Given the description of an element on the screen output the (x, y) to click on. 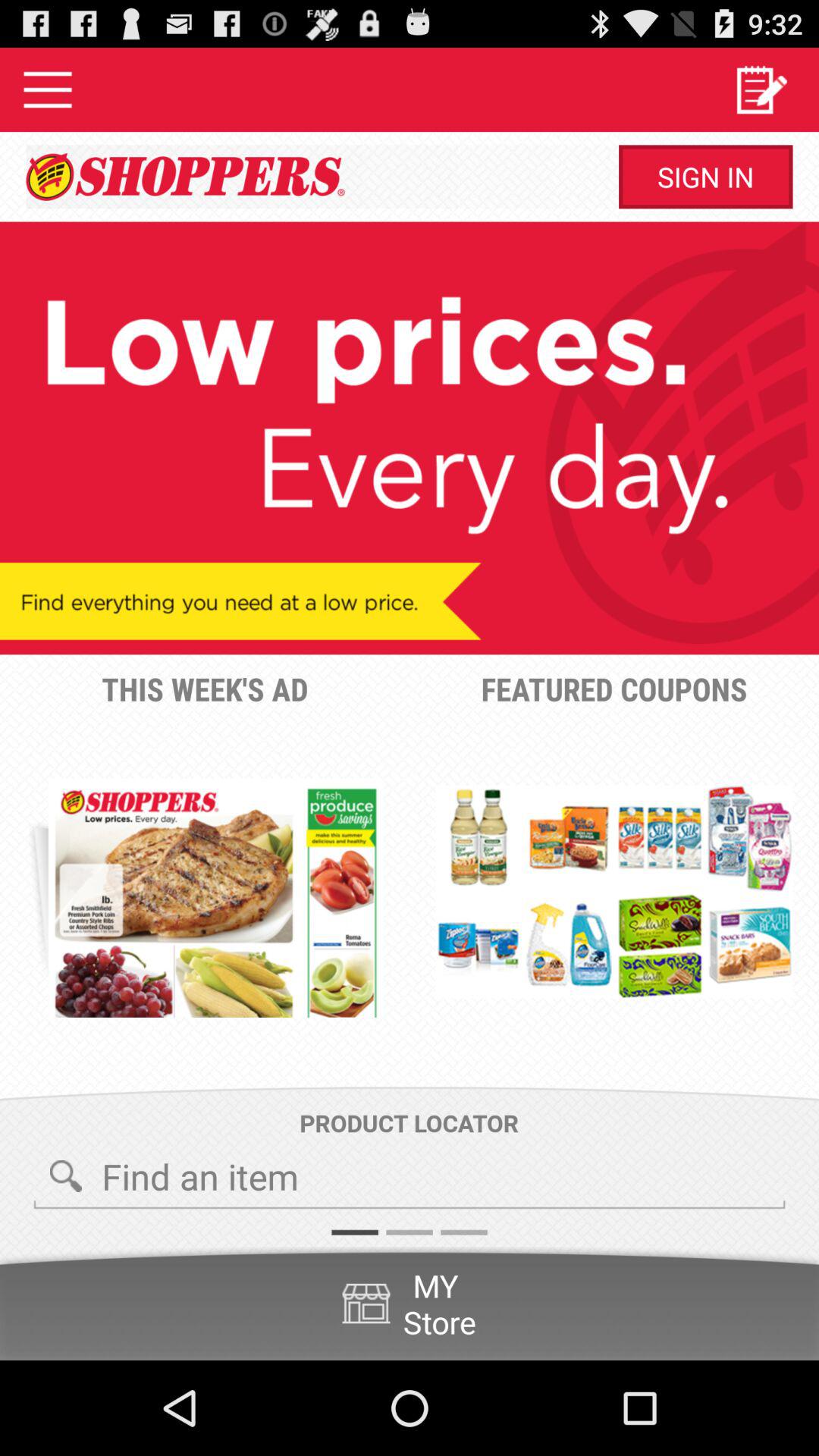
turn on the icon above the product locator item (215, 898)
